Given the description of an element on the screen output the (x, y) to click on. 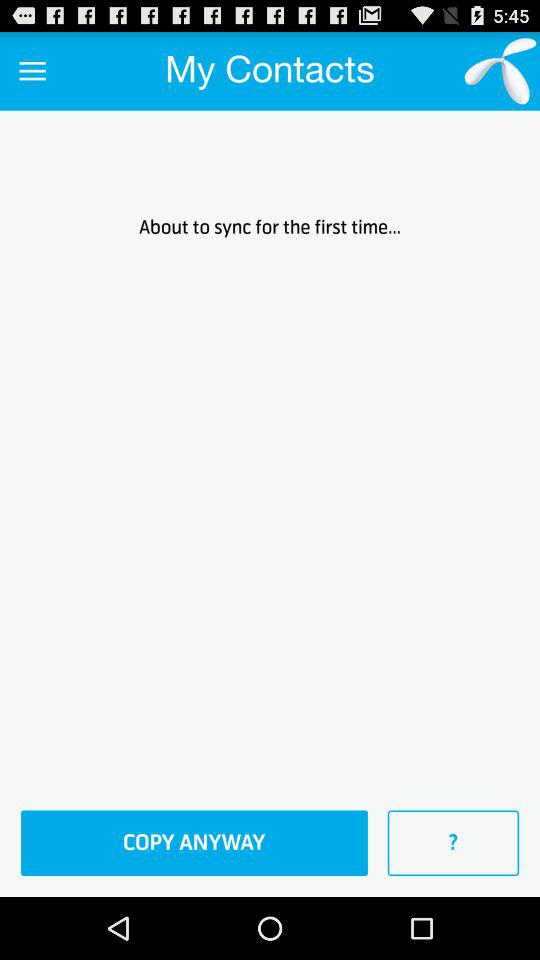
scroll to ?  icon (453, 843)
